Given the description of an element on the screen output the (x, y) to click on. 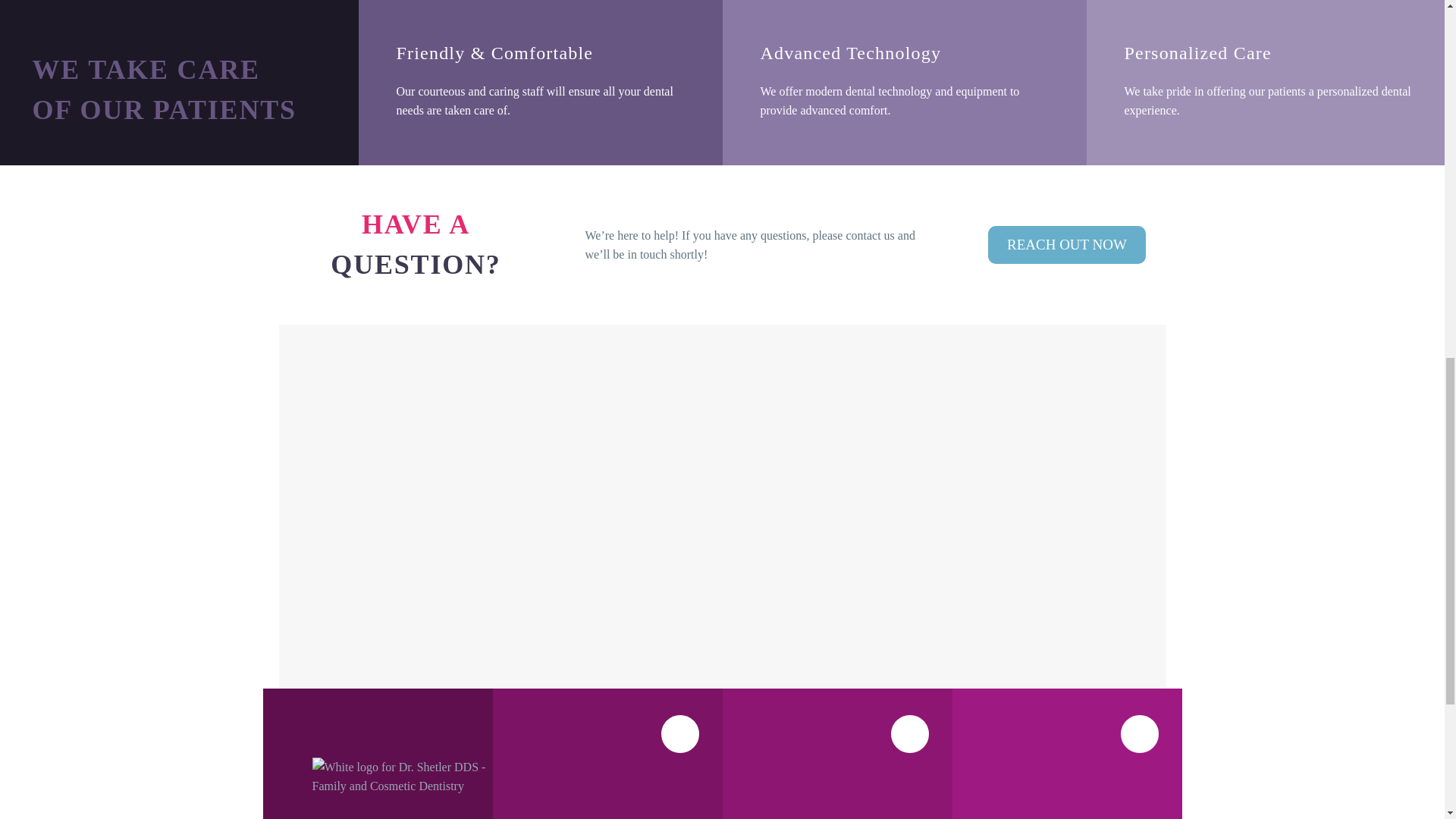
Contact (1066, 244)
